Given the description of an element on the screen output the (x, y) to click on. 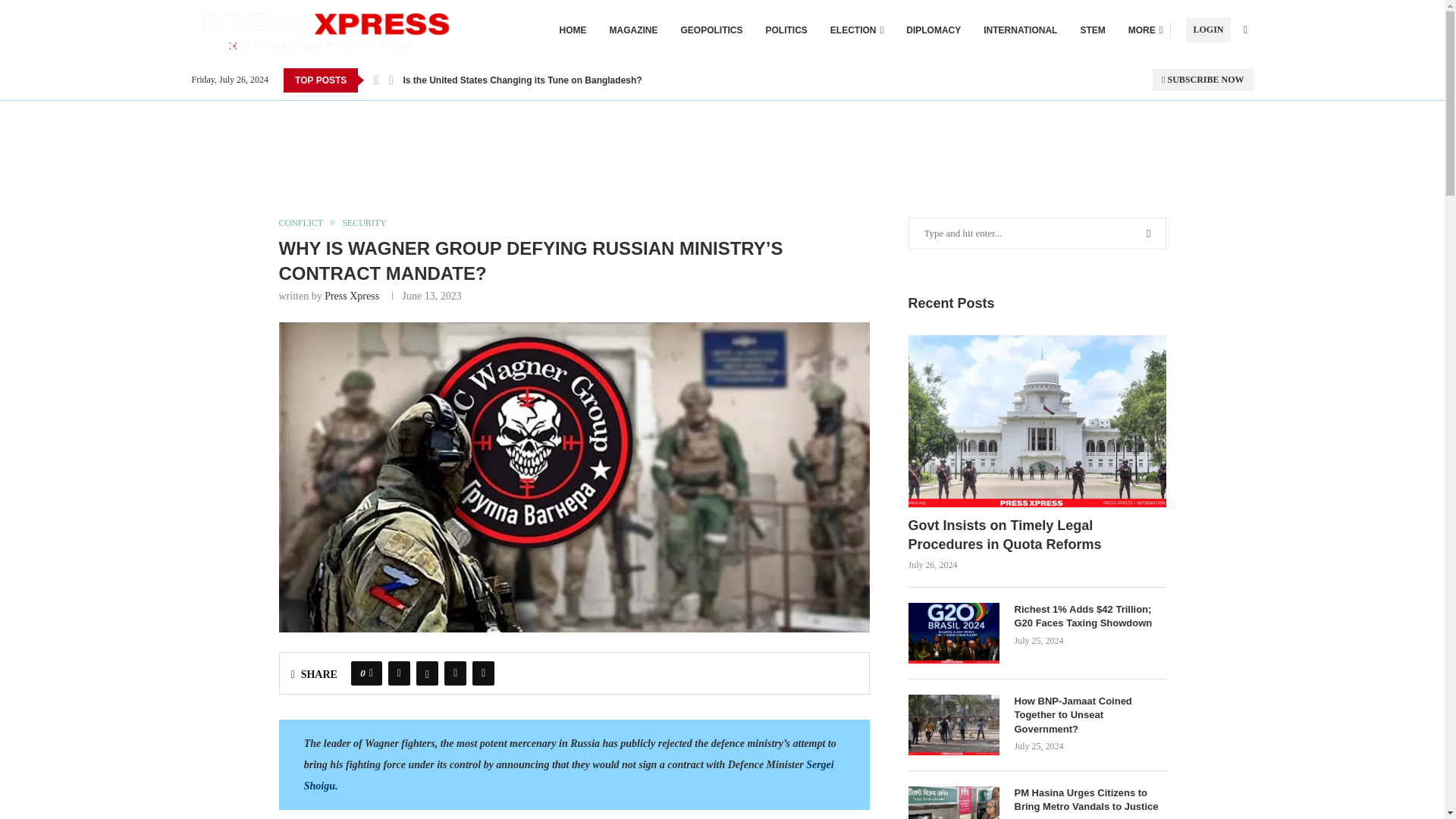
Govt Insists on Timely Legal Procedures in Quota Reforms (1037, 535)
MAGAZINE (634, 30)
ELECTION (856, 30)
Govt Insists on Timely Legal Procedures in Quota Reforms (1037, 420)
INTERNATIONAL (1020, 30)
GEOPOLITICS (711, 30)
POLITICS (786, 30)
Advertisement (722, 134)
DIPLOMACY (932, 30)
